Given the description of an element on the screen output the (x, y) to click on. 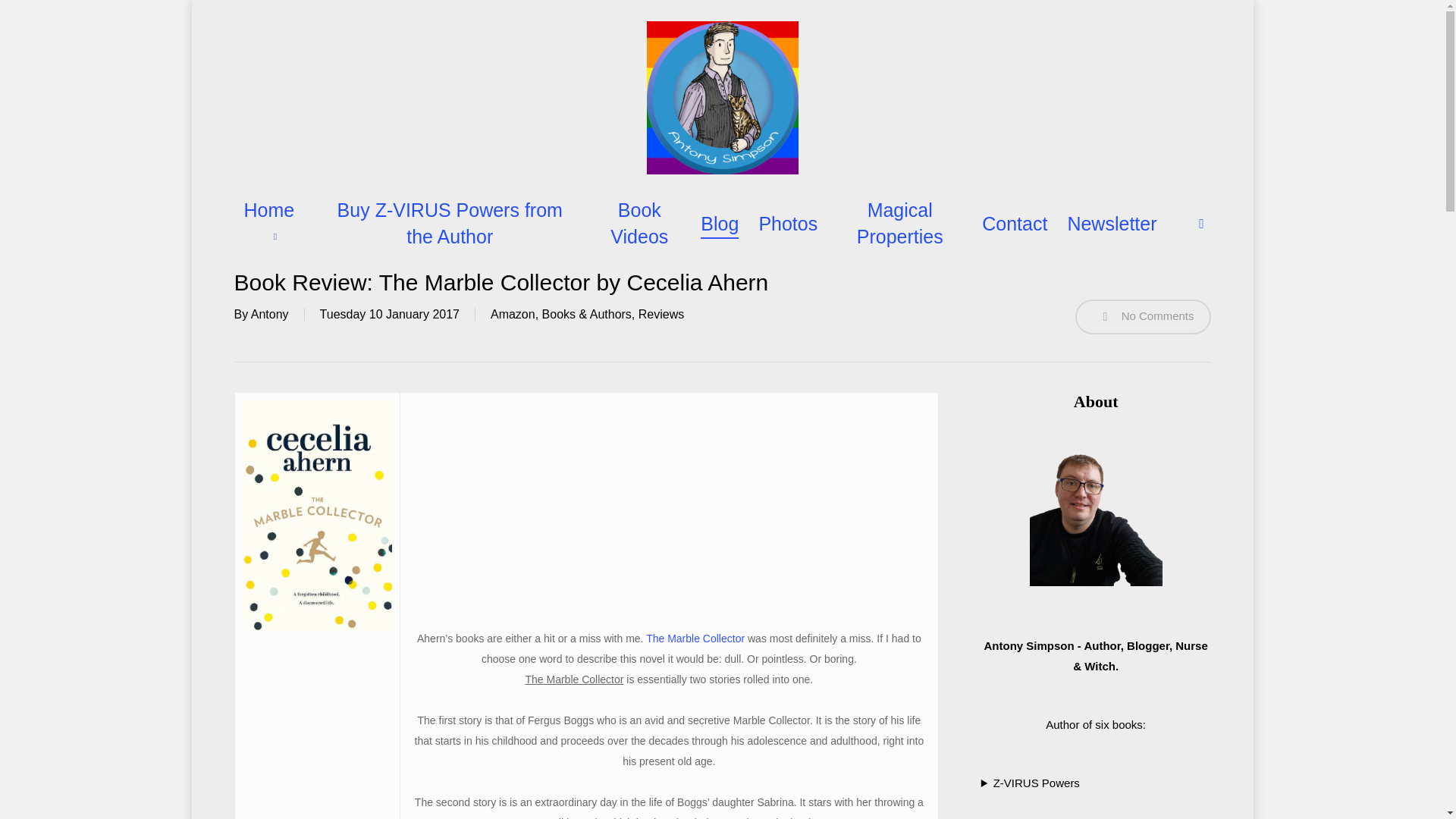
Home (273, 223)
Blog (719, 223)
Photos (787, 223)
Buy Z-VIRUS Powers from the Author (449, 223)
Posts by Antony (269, 314)
Contact (1013, 223)
search (1200, 223)
Book Videos (638, 223)
Newsletter (1111, 223)
Magical Properties (899, 223)
